Given the description of an element on the screen output the (x, y) to click on. 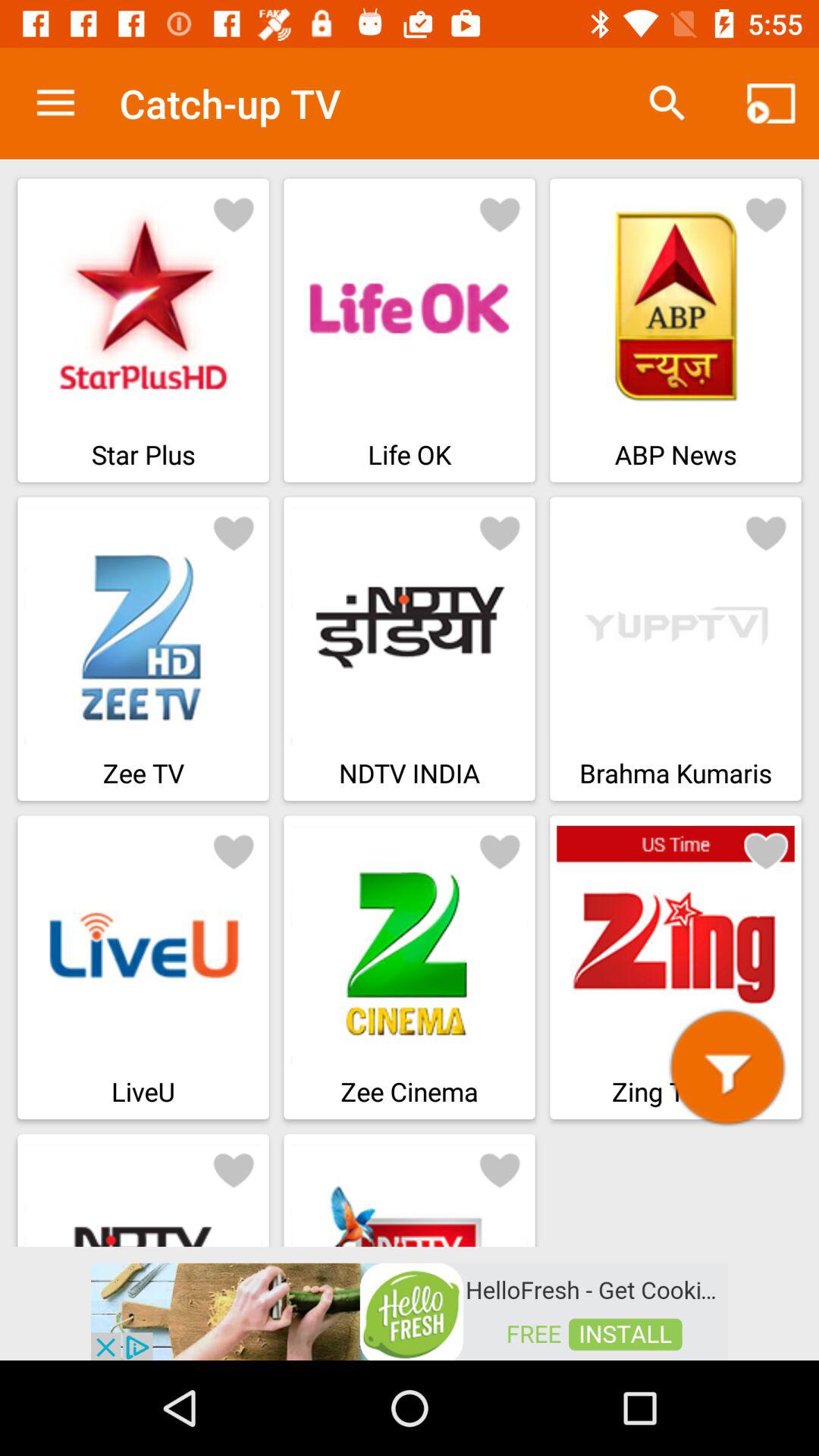
select like option (499, 1169)
